Given the description of an element on the screen output the (x, y) to click on. 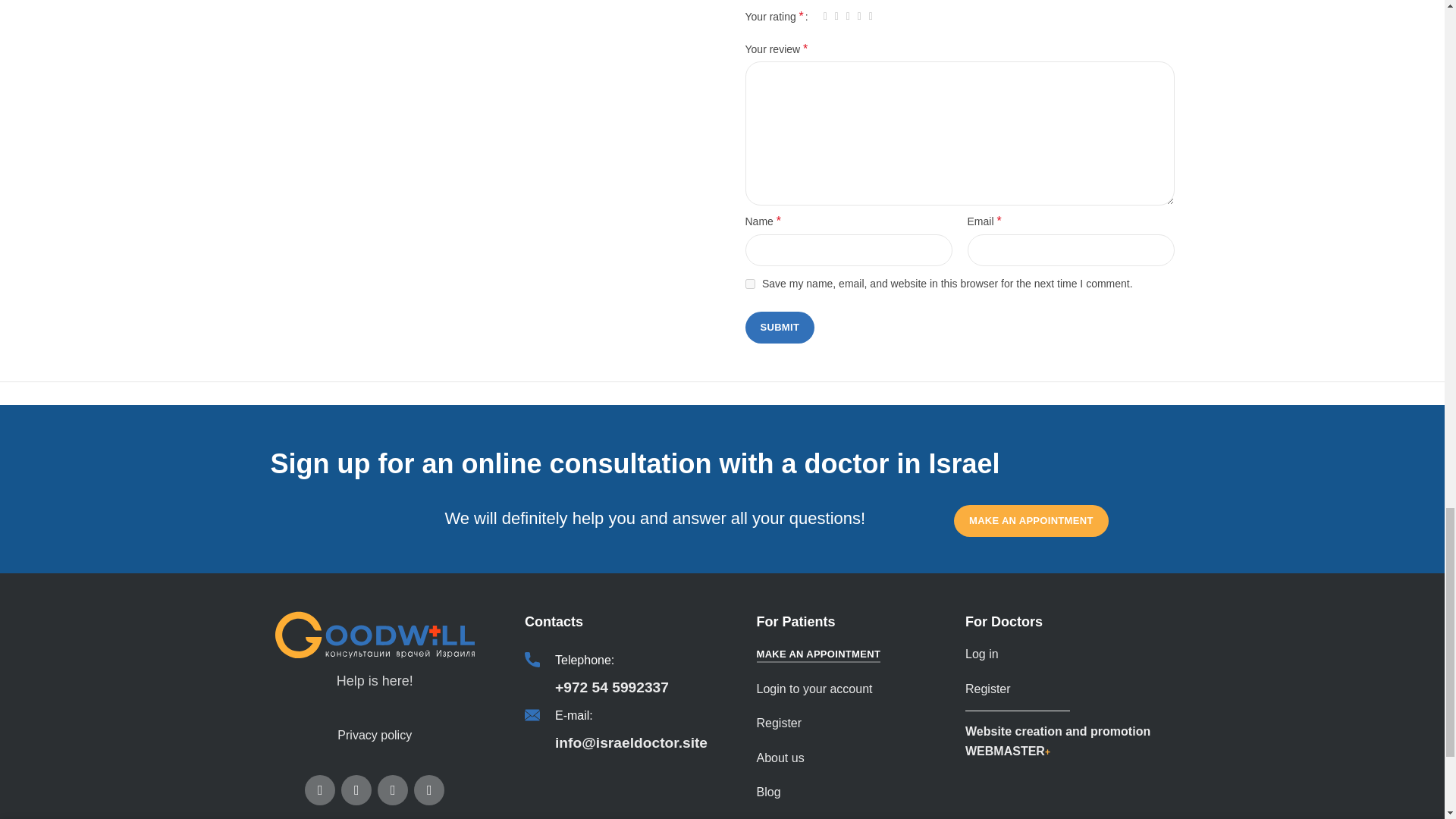
yes (749, 284)
Submit (778, 327)
MAKE AN APPOINTMENT (1030, 521)
